Given the description of an element on the screen output the (x, y) to click on. 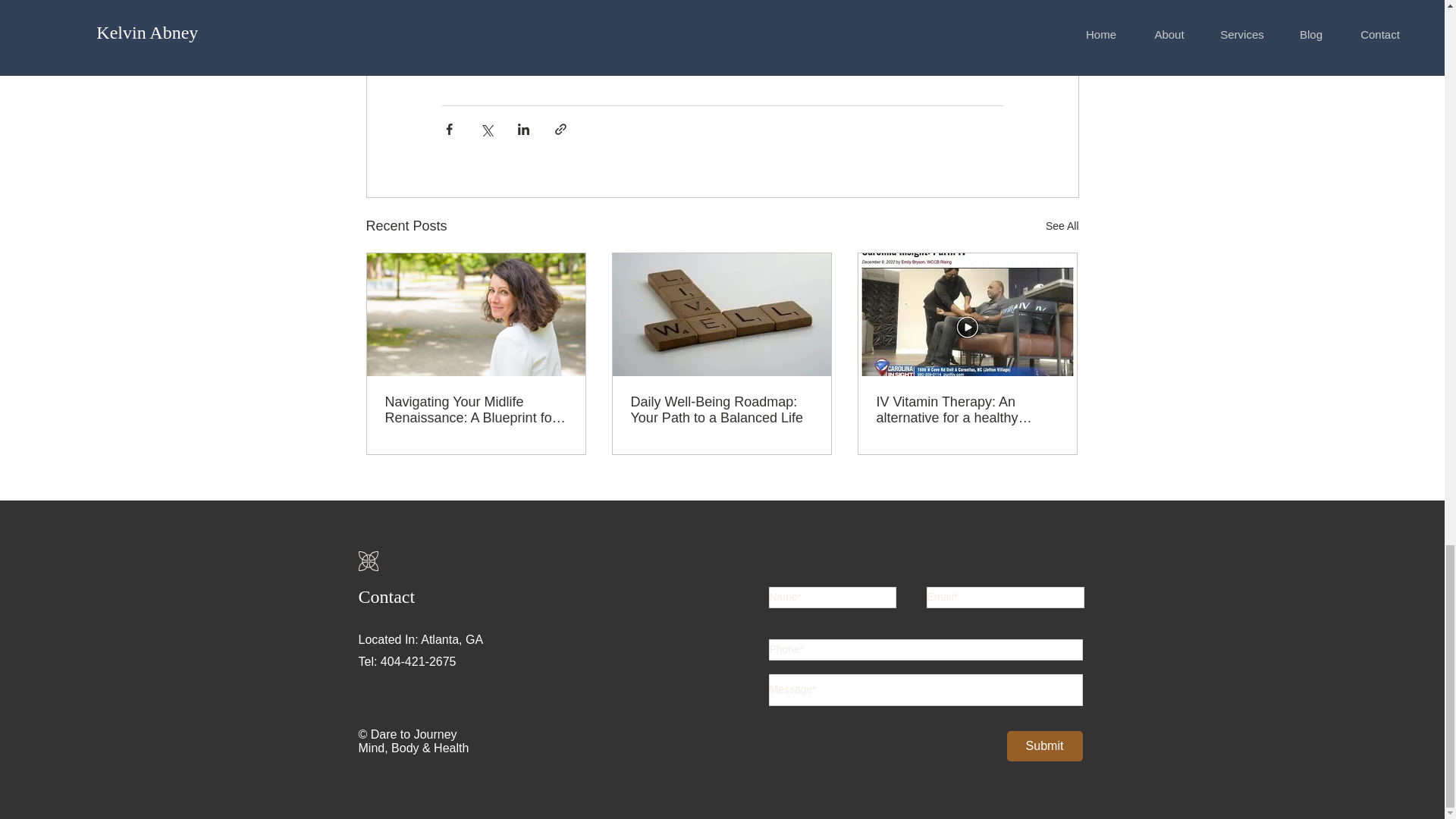
IV Vitamin Therapy: An alternative for a healthy lifestyle (967, 409)
Daily Well-Being Roadmap: Your Path to a Balanced Life (721, 409)
See All (1061, 226)
Submit (1045, 746)
